Given the description of an element on the screen output the (x, y) to click on. 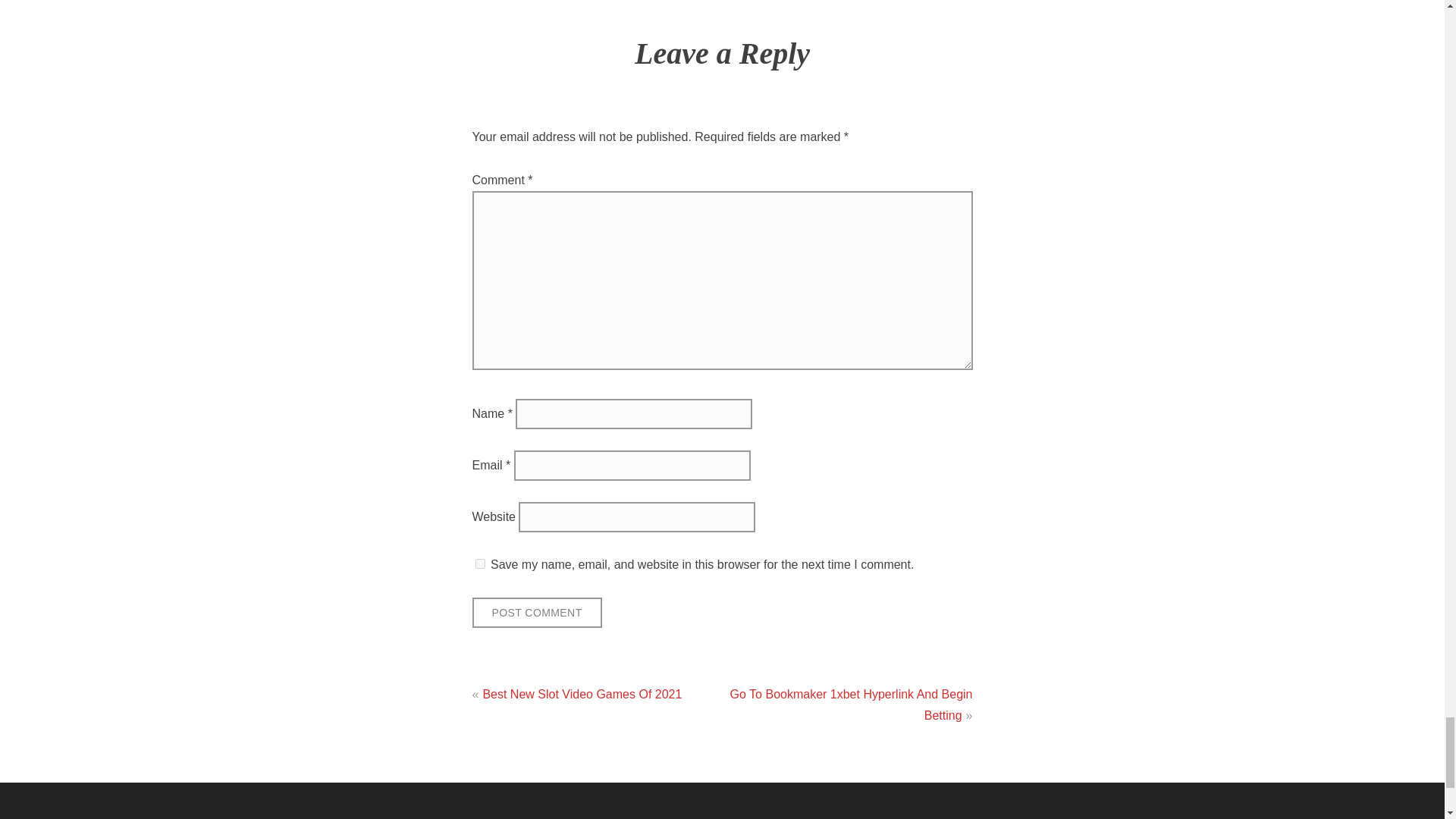
yes (479, 563)
Post Comment (536, 612)
Go To Bookmaker 1xbet Hyperlink And Begin Betting (851, 704)
Post Comment (536, 612)
Best New Slot Video Games Of 2021 (581, 694)
